Given the description of an element on the screen output the (x, y) to click on. 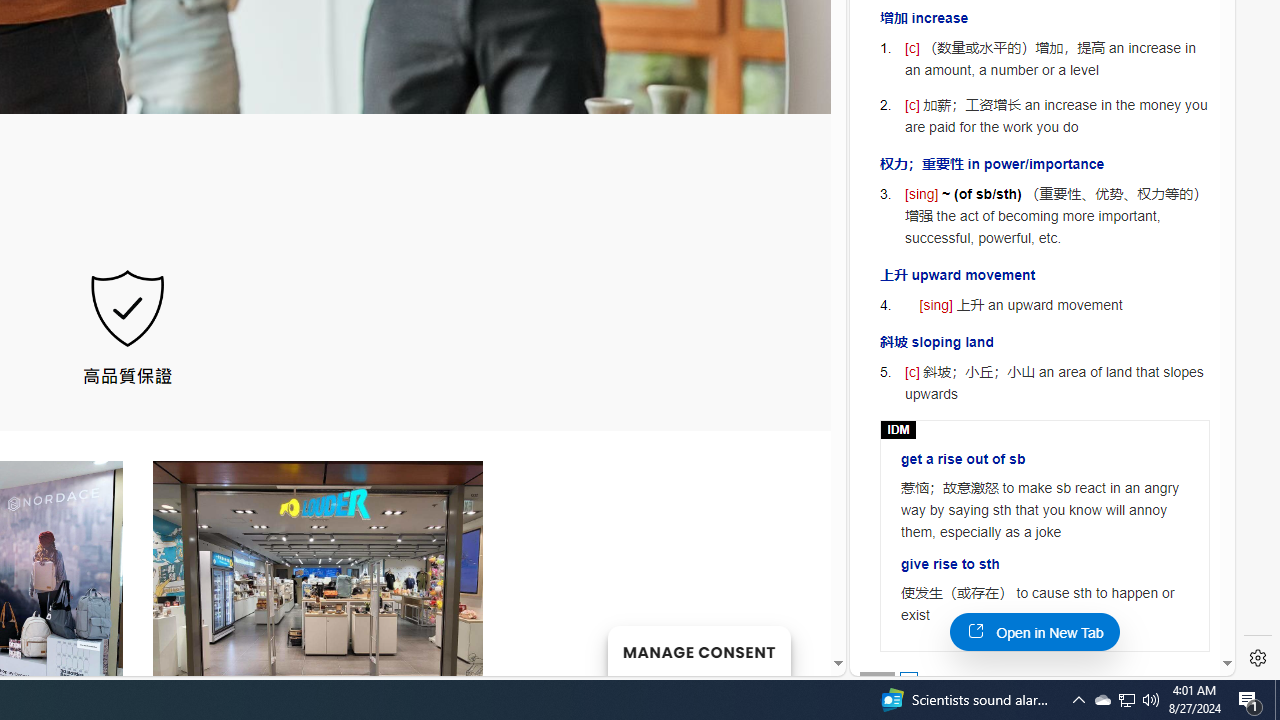
AutomationID: posbtn_1 (908, 680)
MANAGE CONSENT (698, 650)
